Given the description of an element on the screen output the (x, y) to click on. 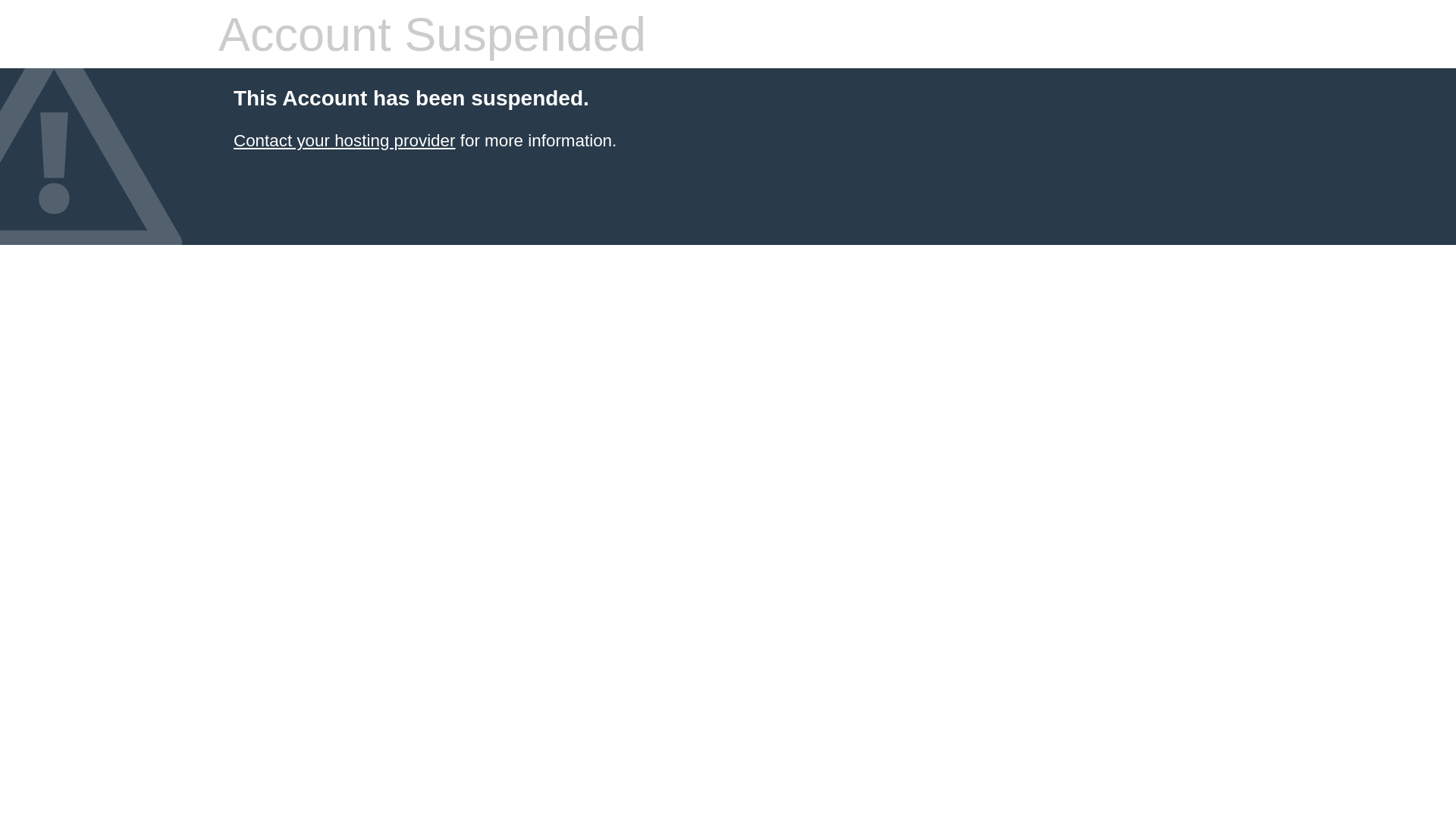
Contact your hosting provider Element type: text (344, 140)
